Given the description of an element on the screen output the (x, y) to click on. 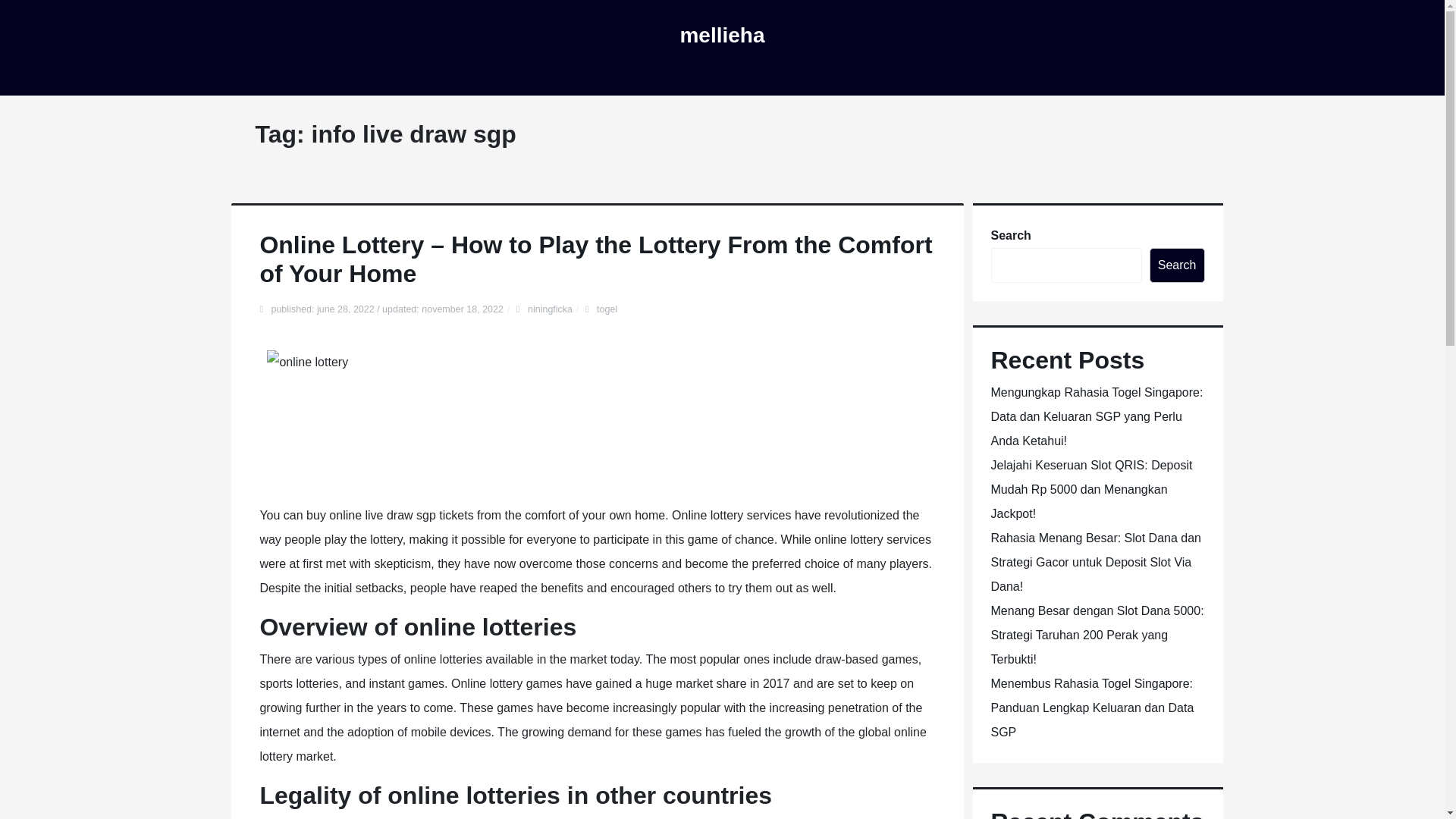
togel (606, 308)
niningficka (549, 308)
Search (1177, 265)
mellieha (721, 34)
